Given the description of an element on the screen output the (x, y) to click on. 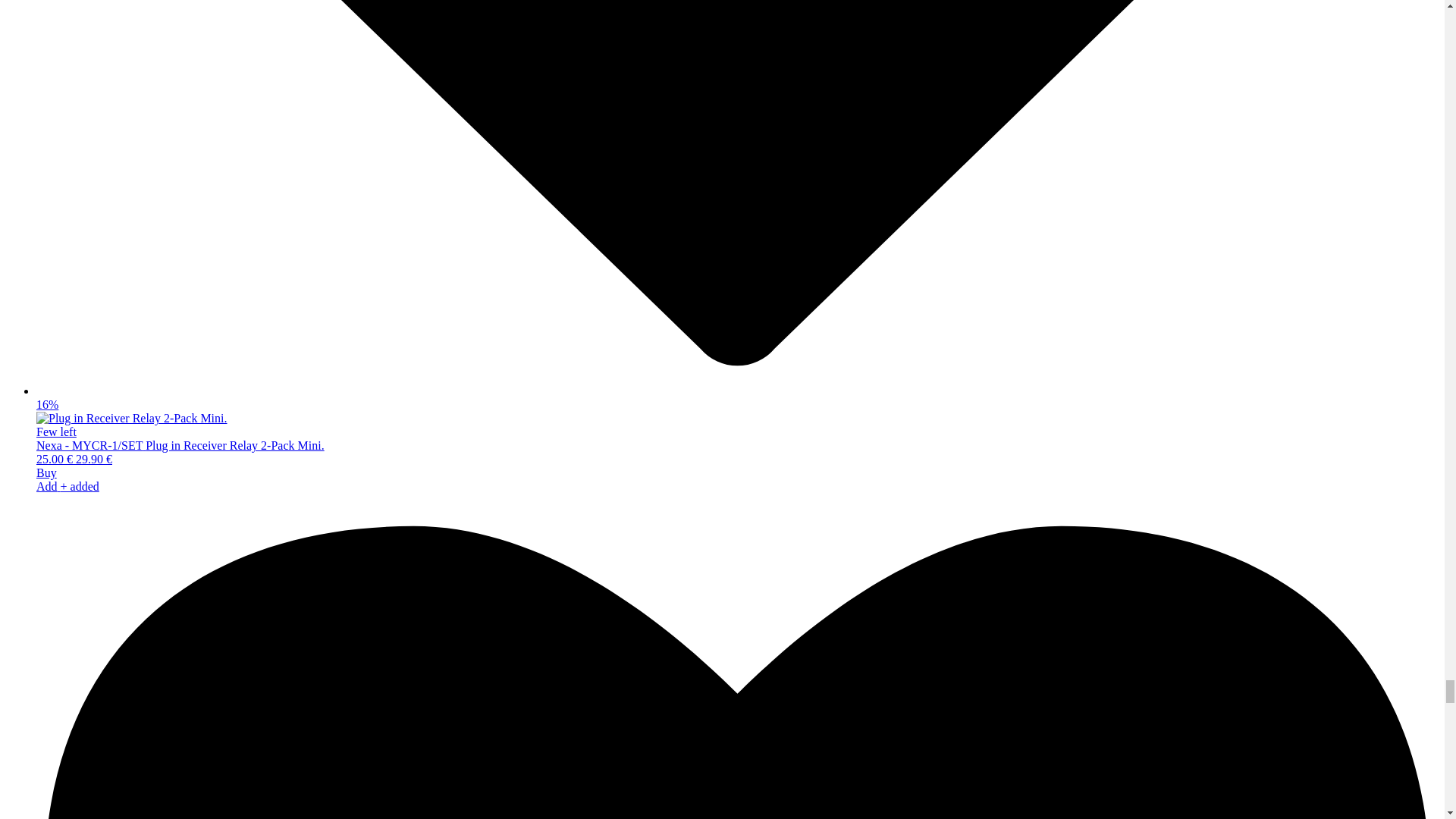
Plug in Receiver Relay 2-Pack Mini. (131, 418)
